Given the description of an element on the screen output the (x, y) to click on. 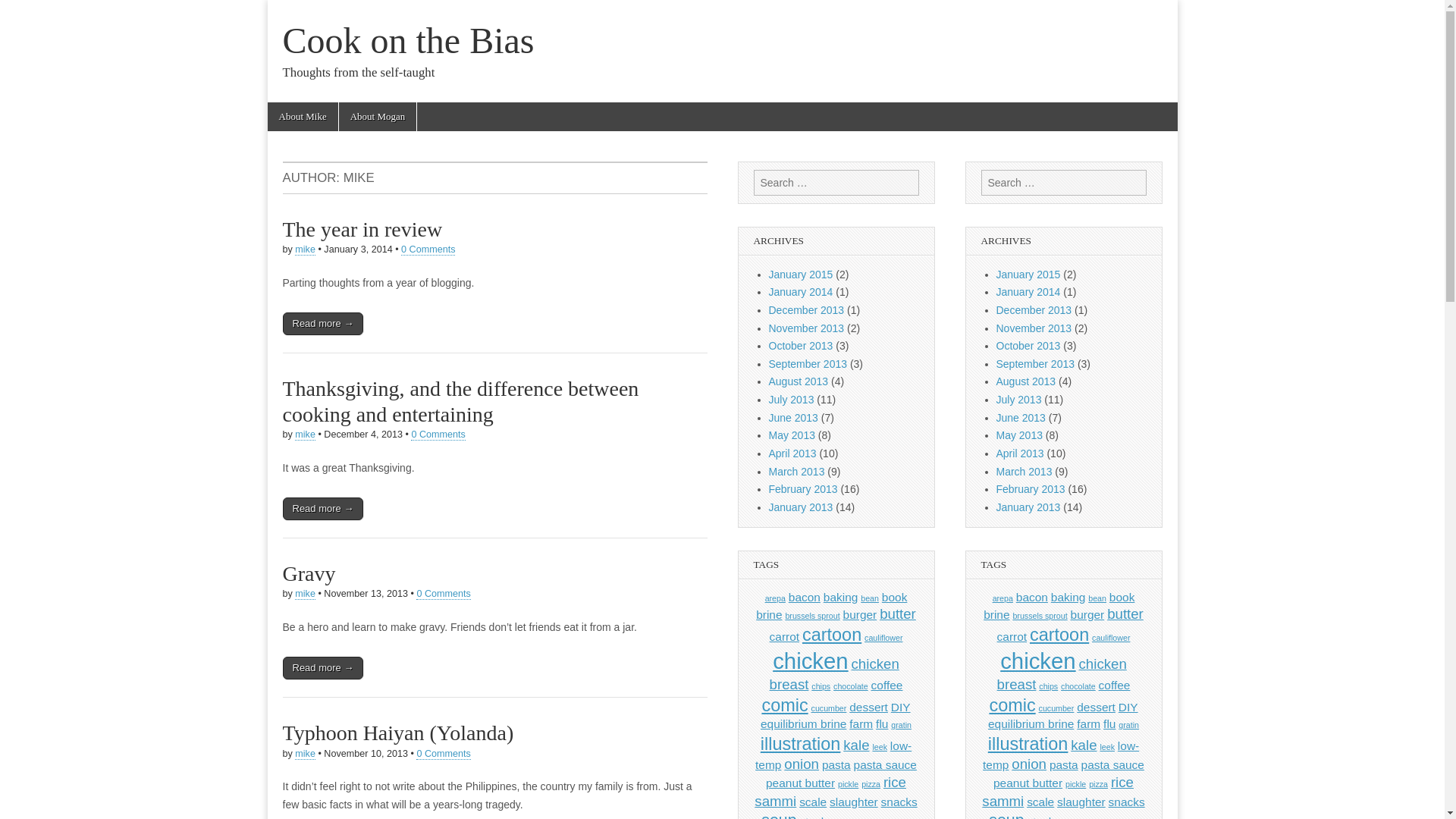
mike (305, 754)
The year in review (362, 228)
Posts by mike (305, 593)
Gravy (308, 573)
Posts by mike (305, 249)
0 Comments (443, 593)
0 Comments (437, 434)
About Mogan (377, 116)
Cook on the Bias (408, 40)
mike (305, 593)
mike (305, 249)
Cook on the Bias (408, 40)
mike (305, 434)
